Given the description of an element on the screen output the (x, y) to click on. 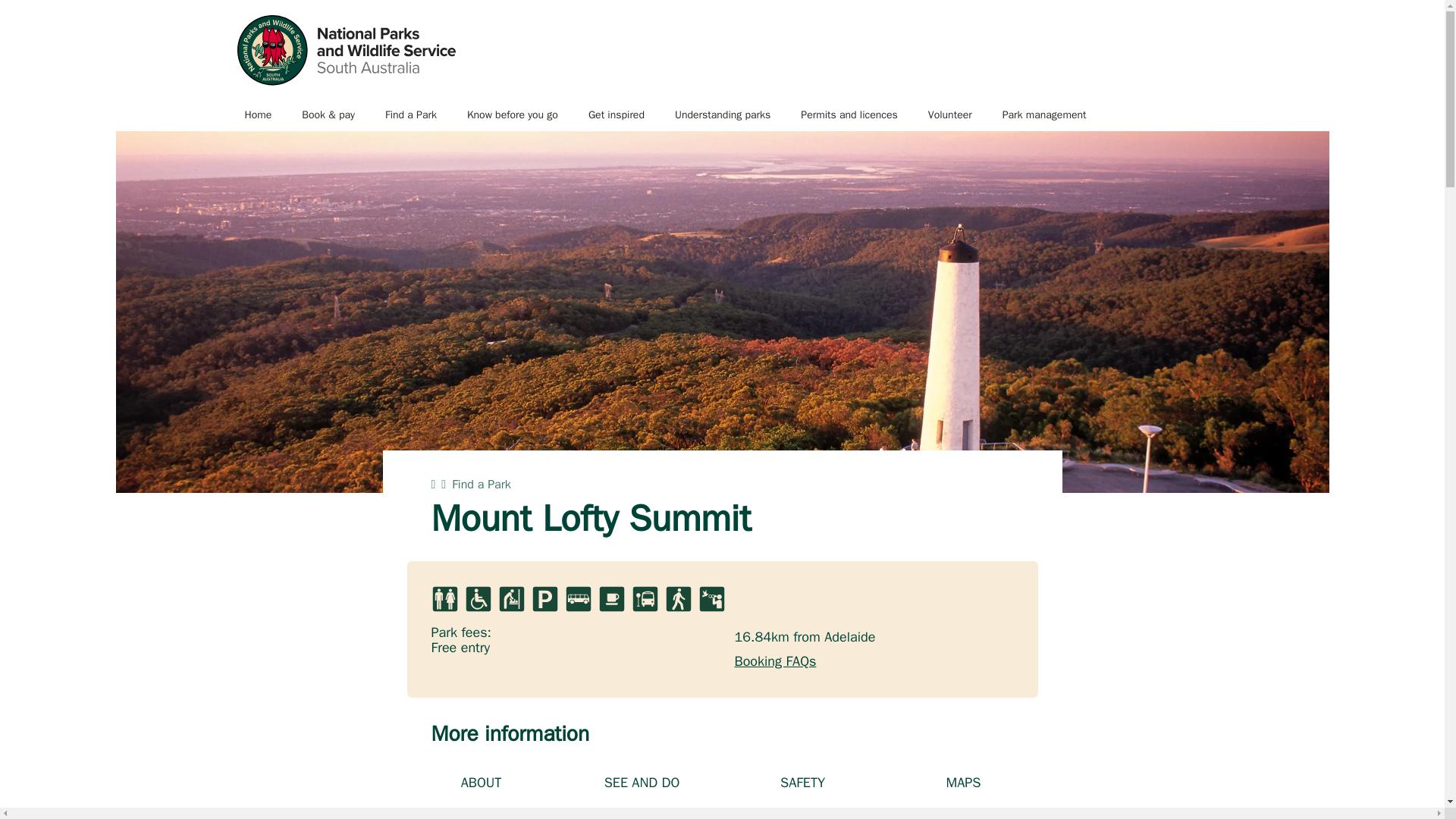
Baby change room (510, 598)
Cafe (610, 598)
Home (257, 115)
Bird watching (711, 598)
Bushwalking (677, 598)
Public transport access (644, 598)
Know before you go (512, 115)
Find a Park (410, 115)
Parking (544, 598)
Toilet (444, 598)
